Given the description of an element on the screen output the (x, y) to click on. 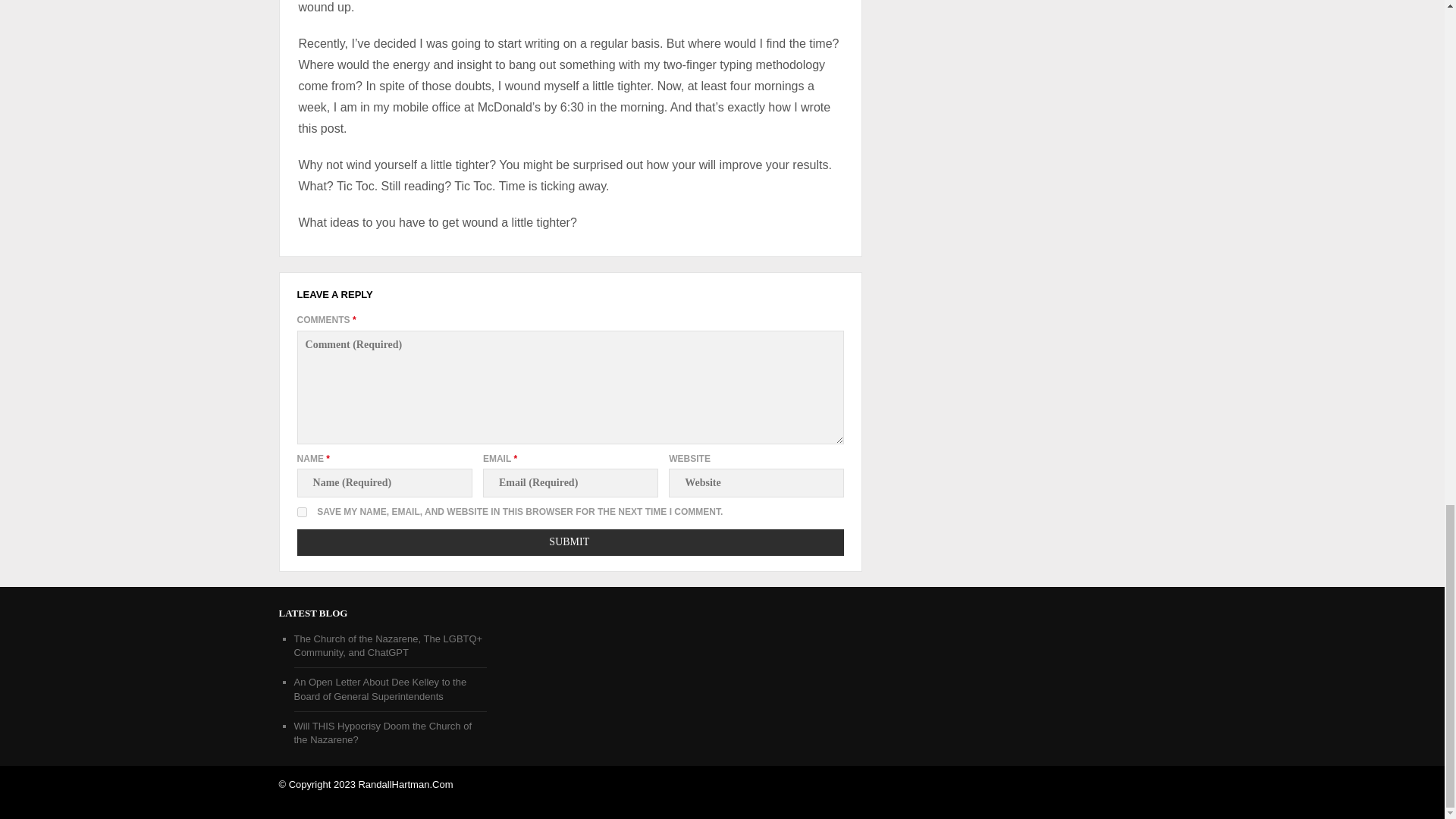
Will THIS Hypocrisy Doom the Church of the Nazarene? (382, 732)
Submit  (570, 542)
Submit  (570, 542)
yes (302, 511)
